Given the description of an element on the screen output the (x, y) to click on. 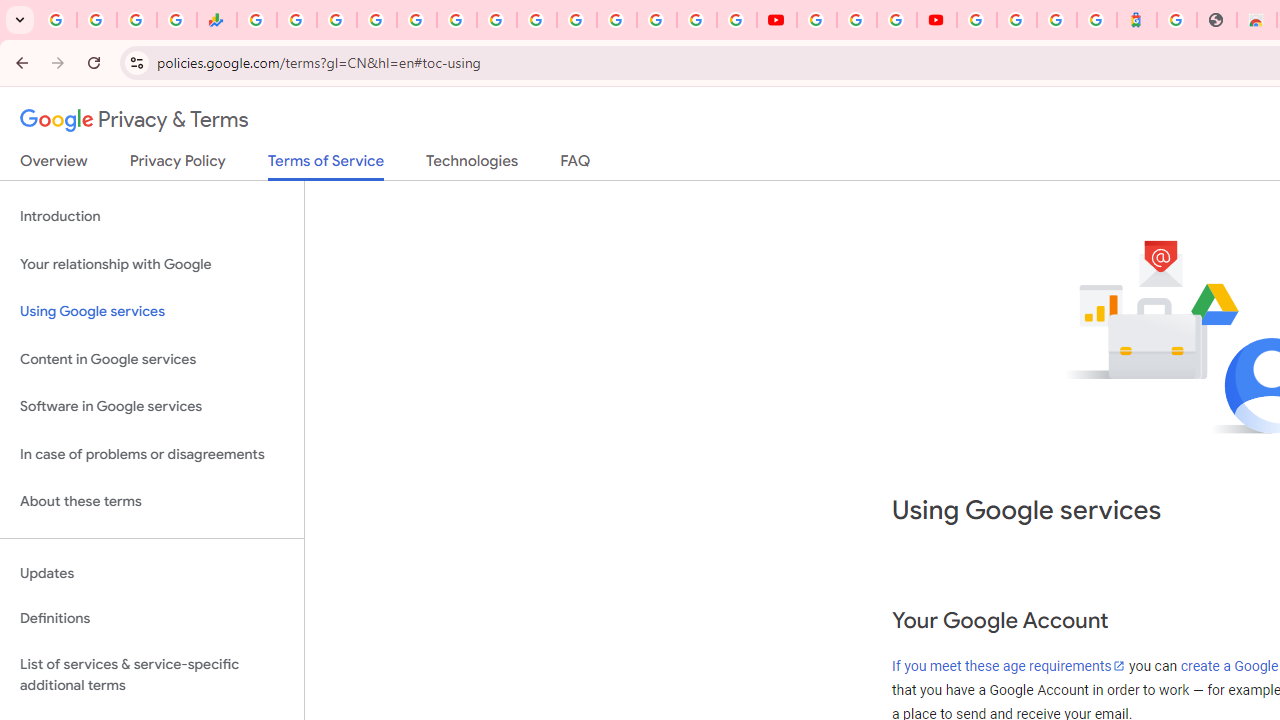
Android TV Policies and Guidelines - Transparency Center (497, 20)
Sign in - Google Accounts (376, 20)
YouTube (776, 20)
Content Creator Programs & Opportunities - YouTube Creators (936, 20)
